Given the description of an element on the screen output the (x, y) to click on. 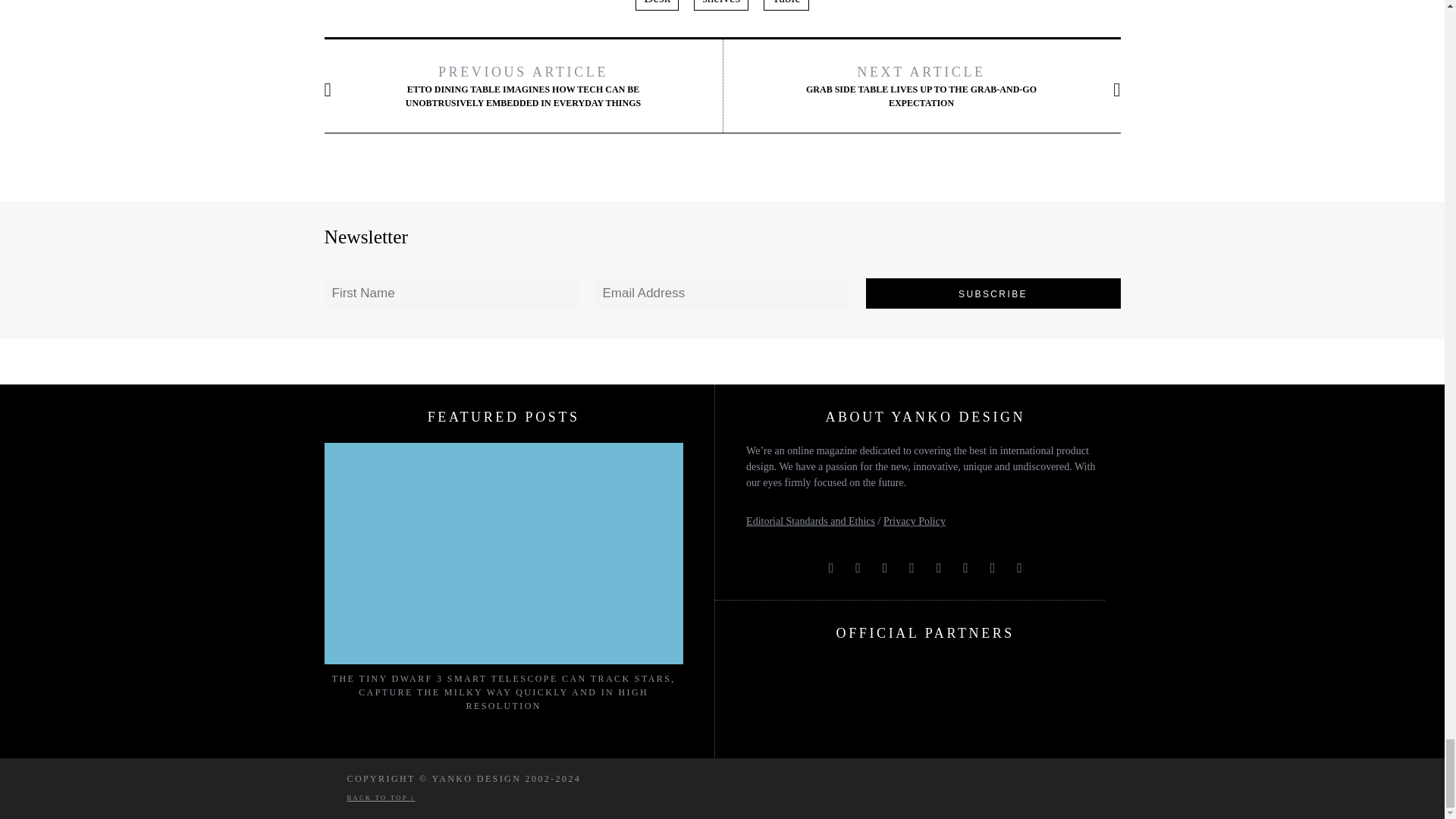
Editorial Standards and Ethics (810, 521)
Privacy Policy (913, 521)
Subscribe (993, 293)
